Given the description of an element on the screen output the (x, y) to click on. 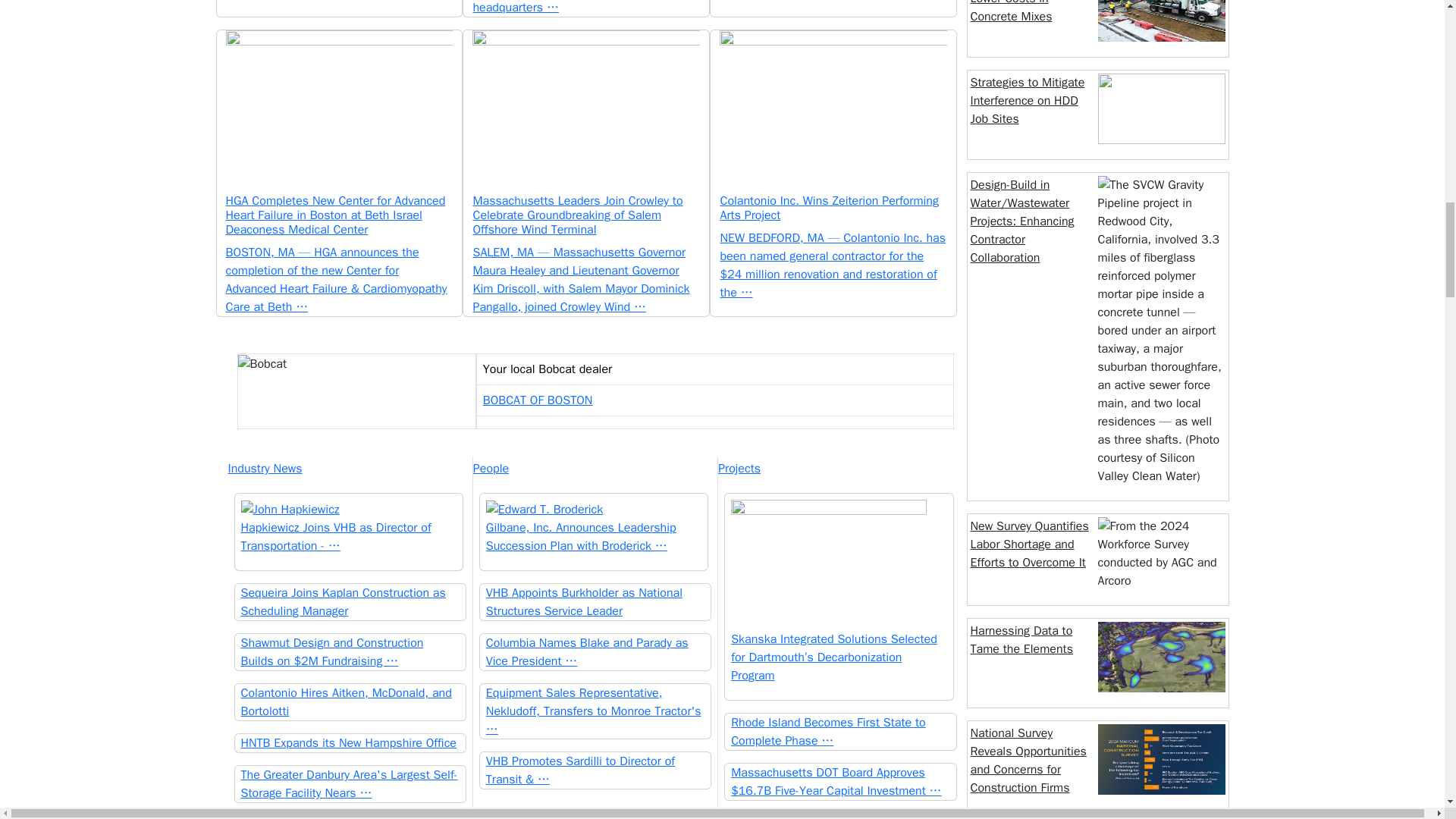
Colantonio Hires Aitken, McDonald, and Bortolotti (350, 701)
Sequeira Joins Kaplan Construction as Scheduling Manager (350, 601)
BOBCAT OF BOSTON (537, 400)
HNTB Expands its New Hampshire Office (350, 742)
Industry News (349, 468)
